Given the description of an element on the screen output the (x, y) to click on. 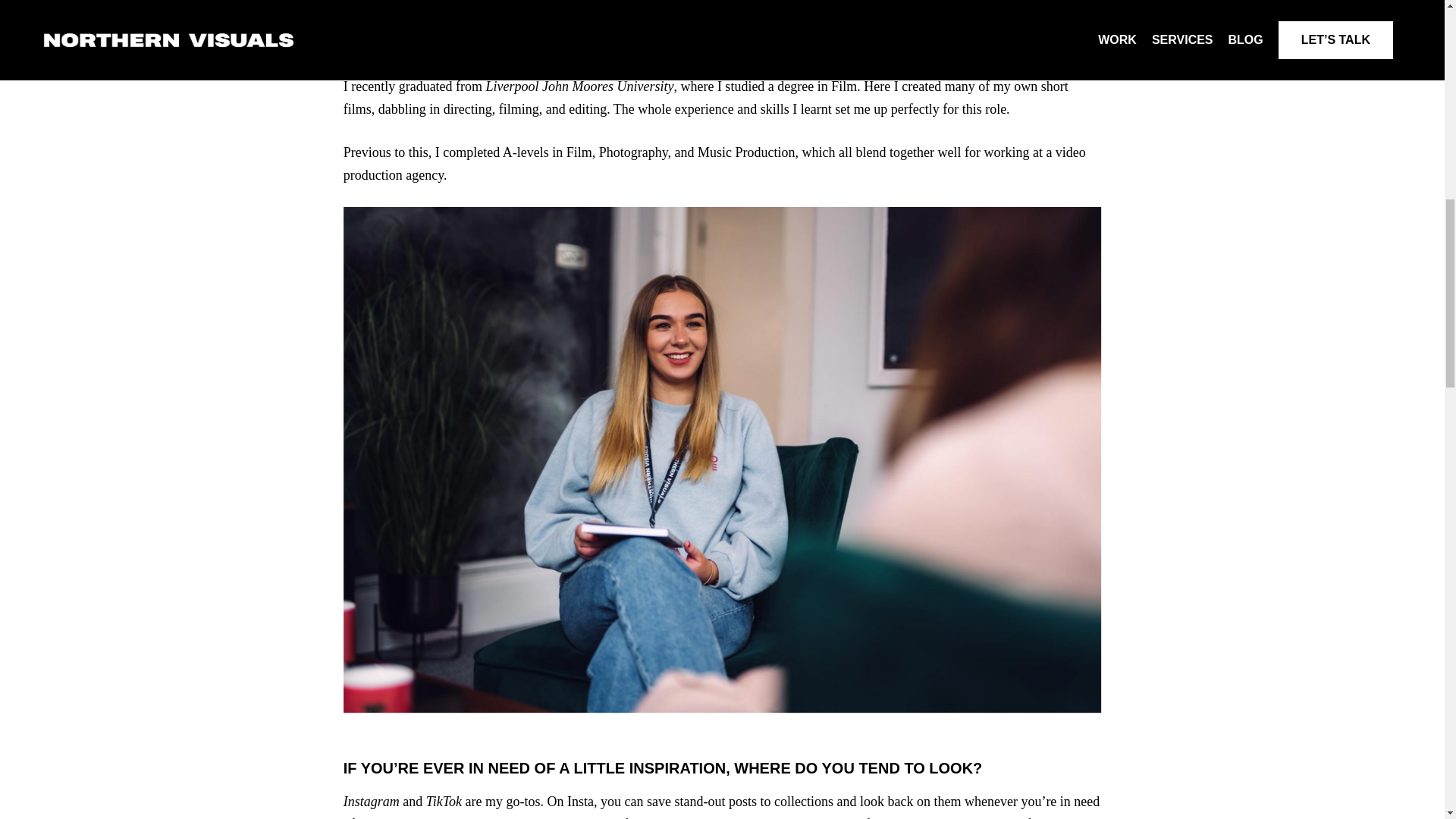
Instagram (370, 801)
TikTok (443, 801)
Liverpool John Moores University (580, 86)
